Given the description of an element on the screen output the (x, y) to click on. 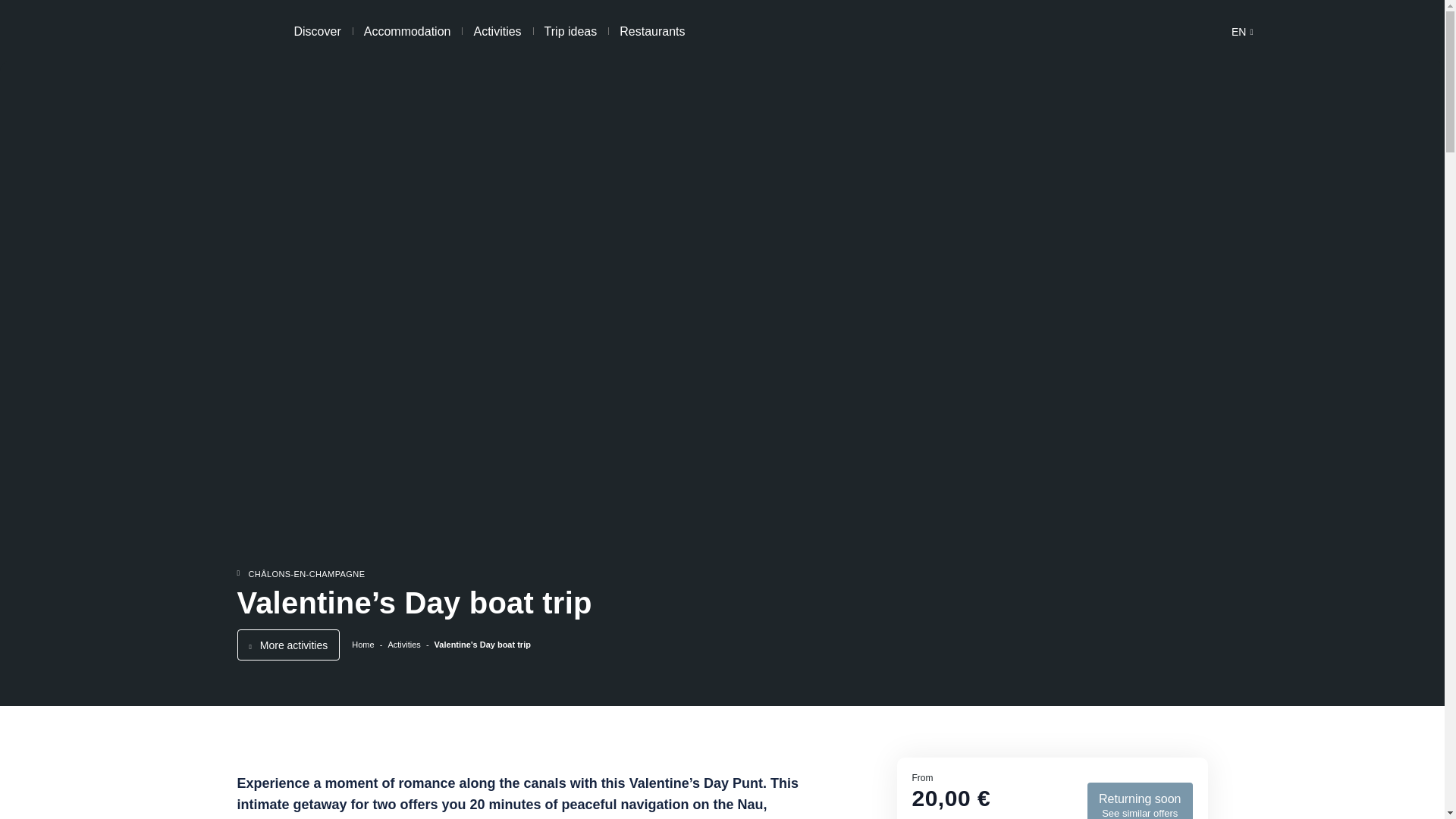
Discover (317, 30)
Trip ideas (570, 30)
Restaurants (651, 30)
More activities (287, 644)
Activities (1139, 800)
EN (496, 30)
Activities (1241, 31)
Accommodation (408, 644)
Home (407, 30)
